Given the description of an element on the screen output the (x, y) to click on. 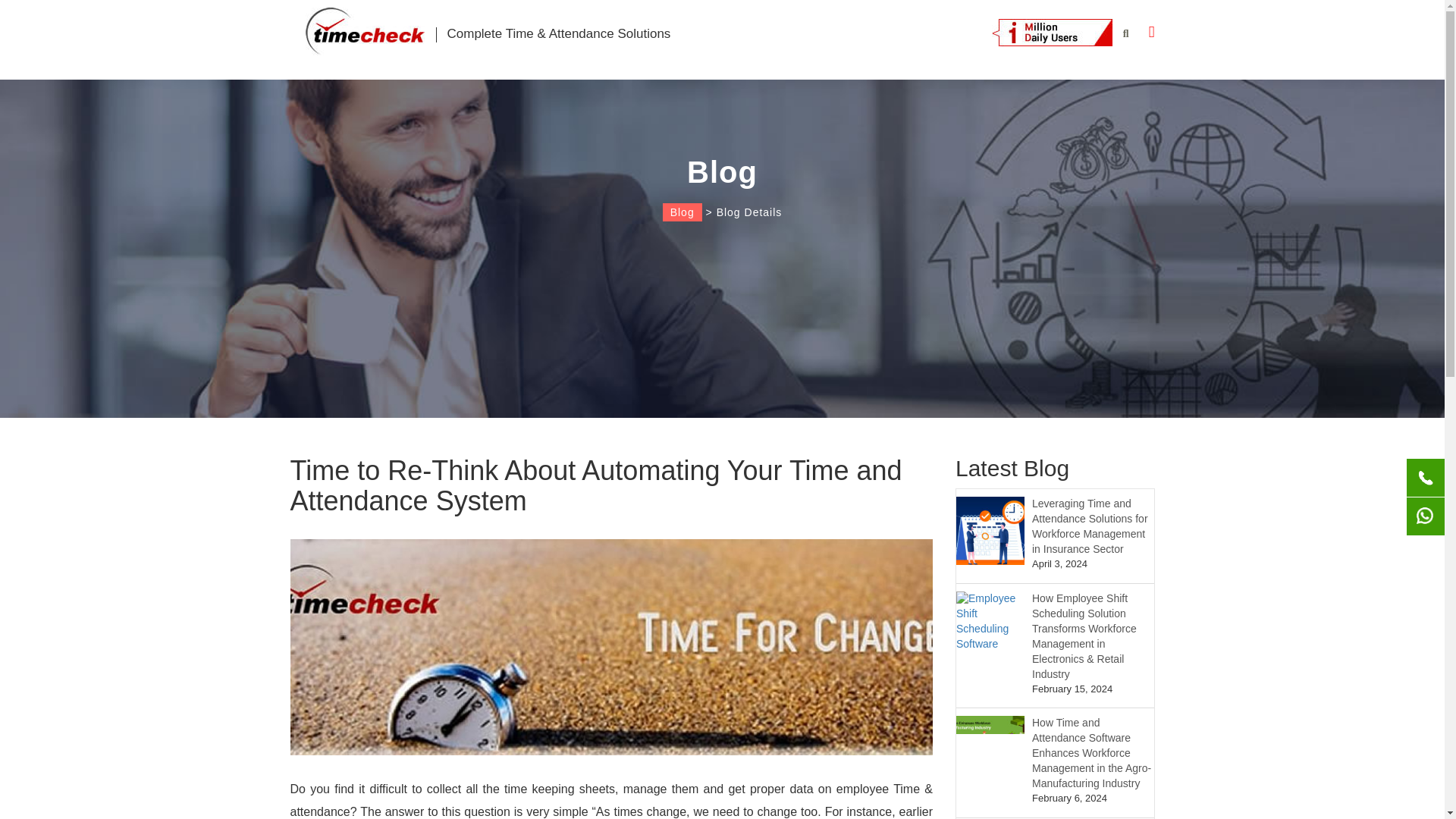
1 Million Daily Users (1051, 31)
